Given the description of an element on the screen output the (x, y) to click on. 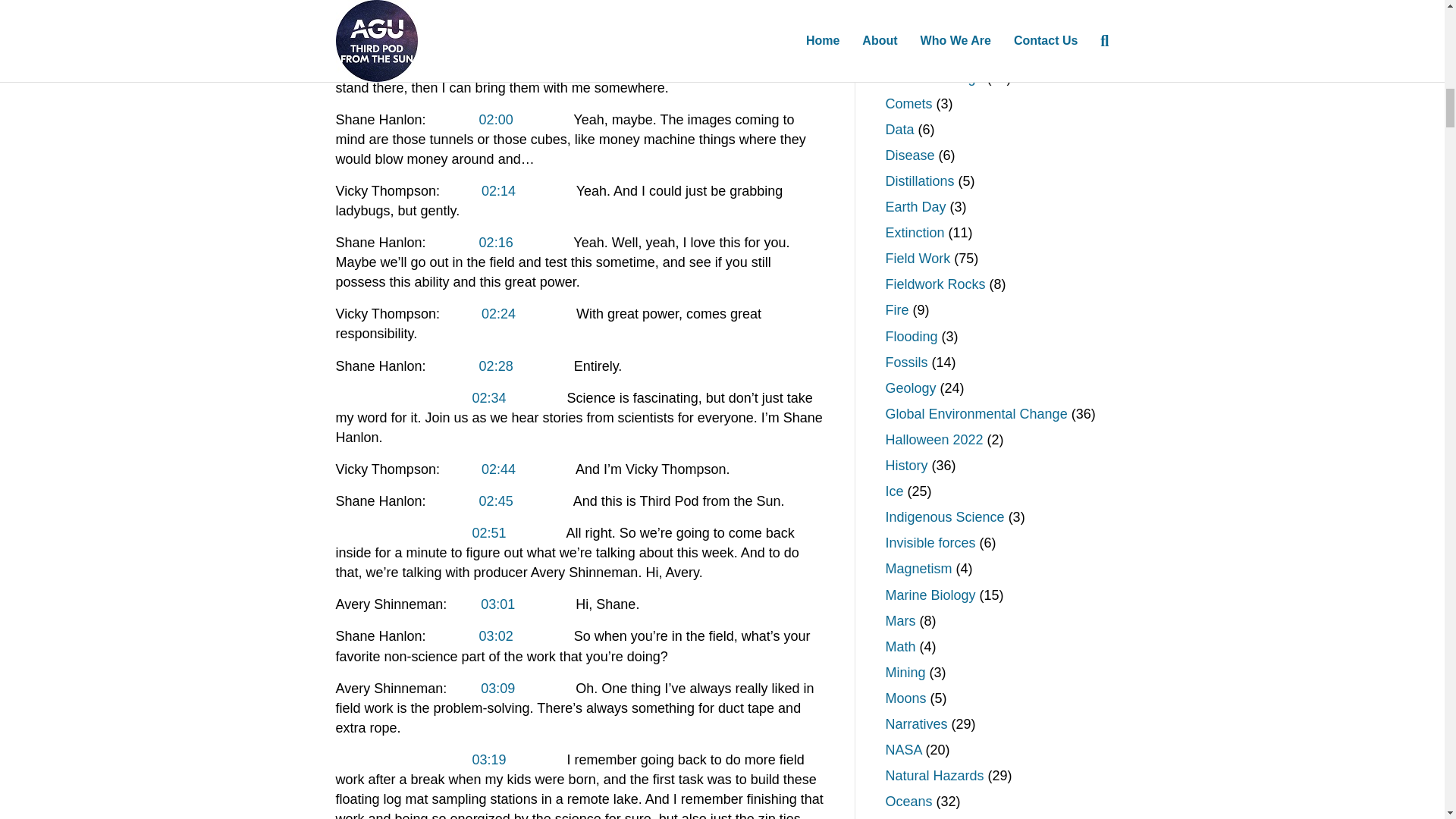
02:28 (496, 365)
02:14 (498, 191)
02:34 (488, 397)
01:48 (498, 28)
02:24 (498, 313)
02:16 (496, 242)
02:00 (496, 119)
